Given the description of an element on the screen output the (x, y) to click on. 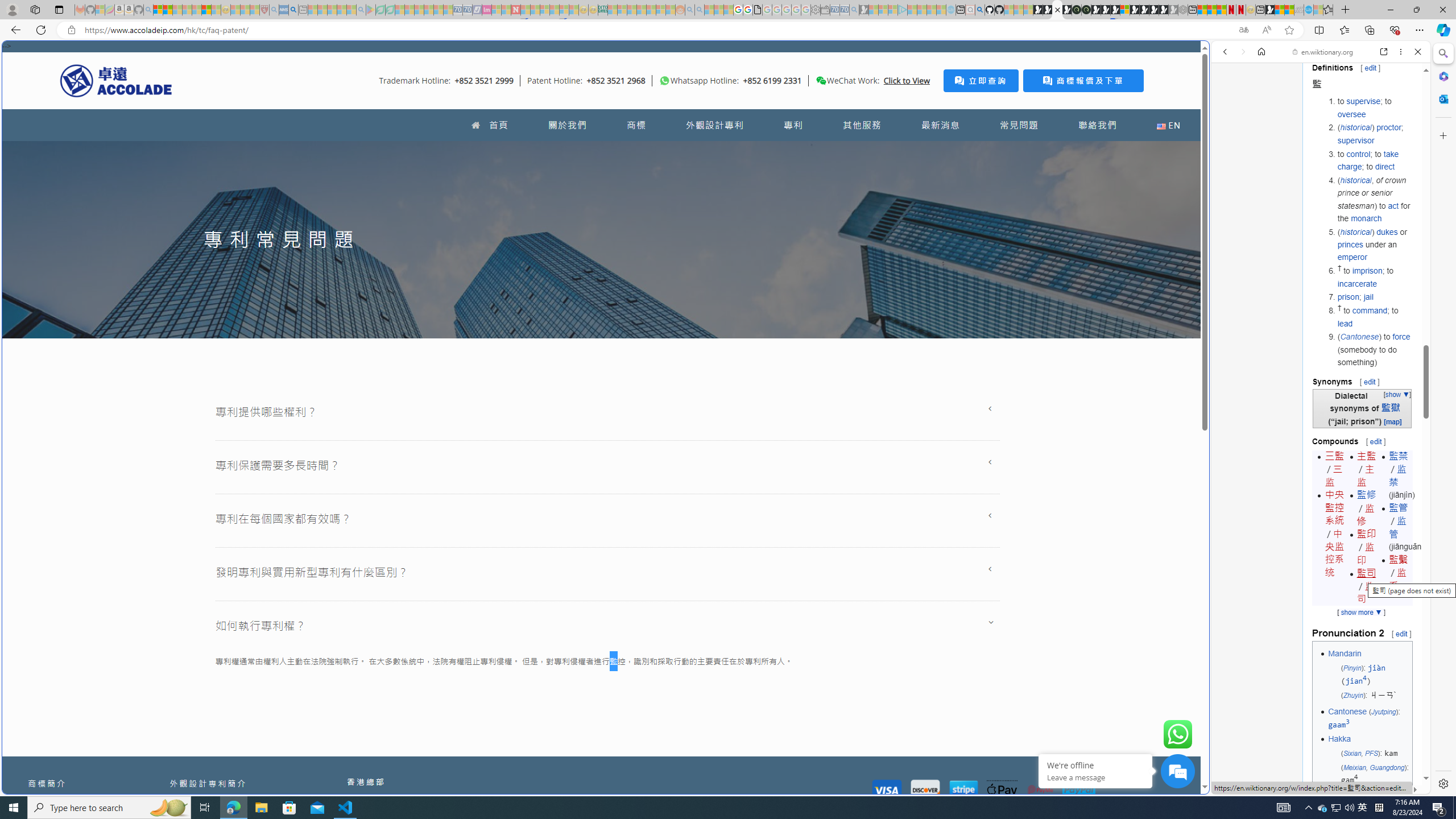
command (1369, 310)
New Tab (1346, 9)
lead (1344, 323)
Microsoft account | Privacy (157, 9)
Split screen (1318, 29)
take charge (1367, 160)
Workspaces (34, 9)
Guangdong (1387, 767)
App bar (728, 29)
